Given the description of an element on the screen output the (x, y) to click on. 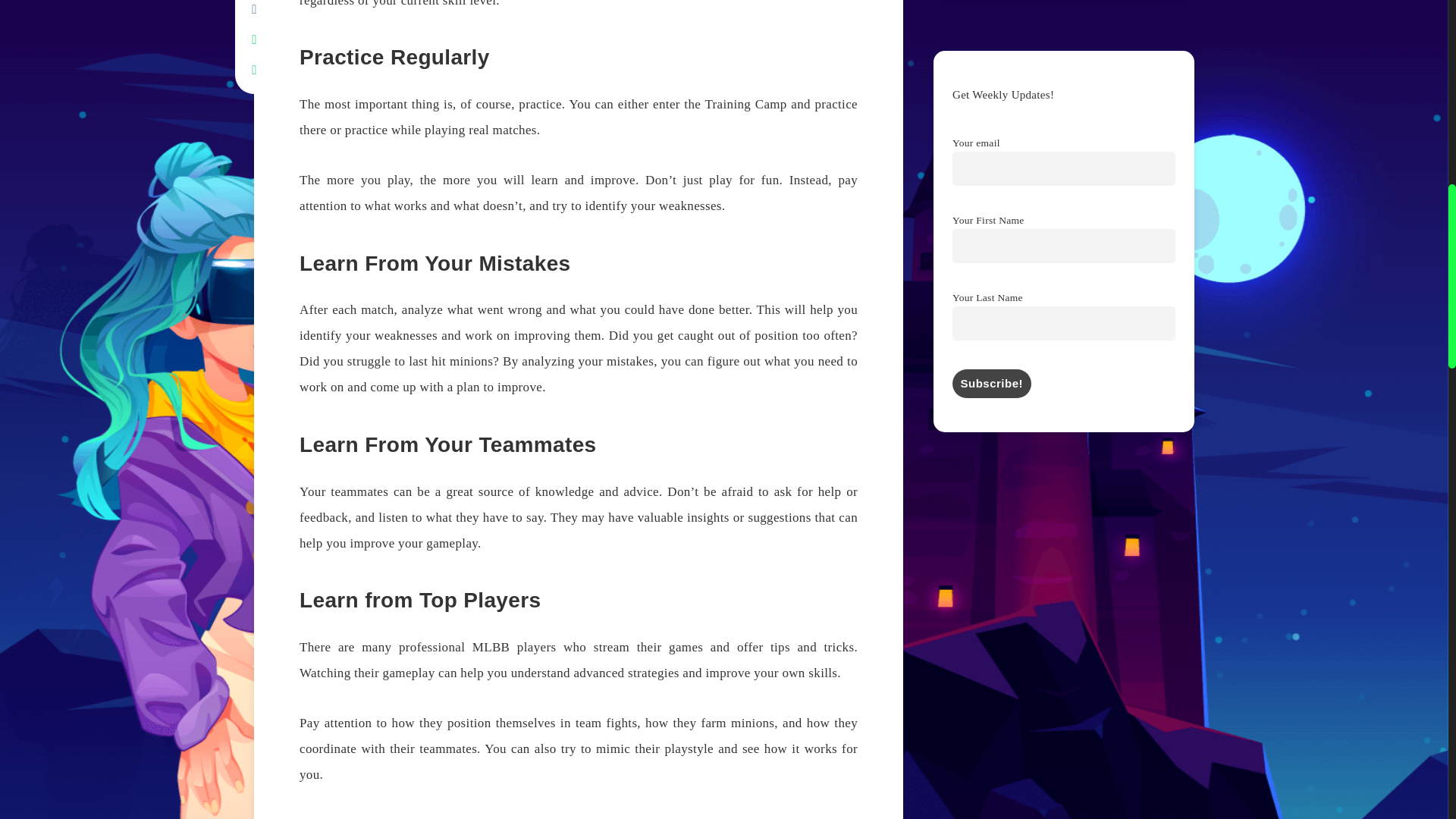
Subscribe! (991, 383)
